Given the description of an element on the screen output the (x, y) to click on. 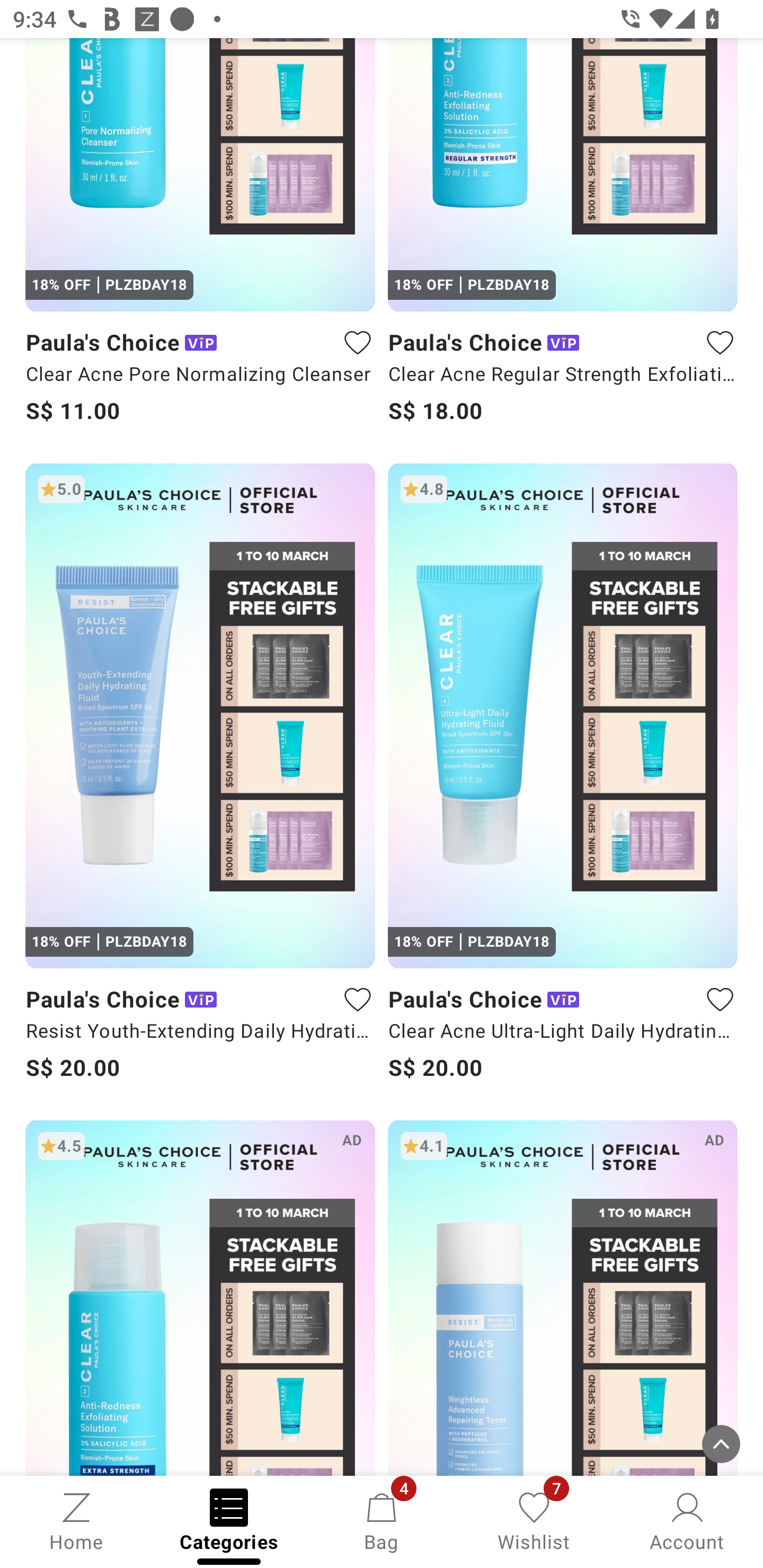
4.5 AD (200, 1297)
4.1 AD (562, 1297)
Home (76, 1519)
Bag, 4 new notifications Bag (381, 1519)
Wishlist, 7 new notifications Wishlist (533, 1519)
Account (686, 1519)
